Given the description of an element on the screen output the (x, y) to click on. 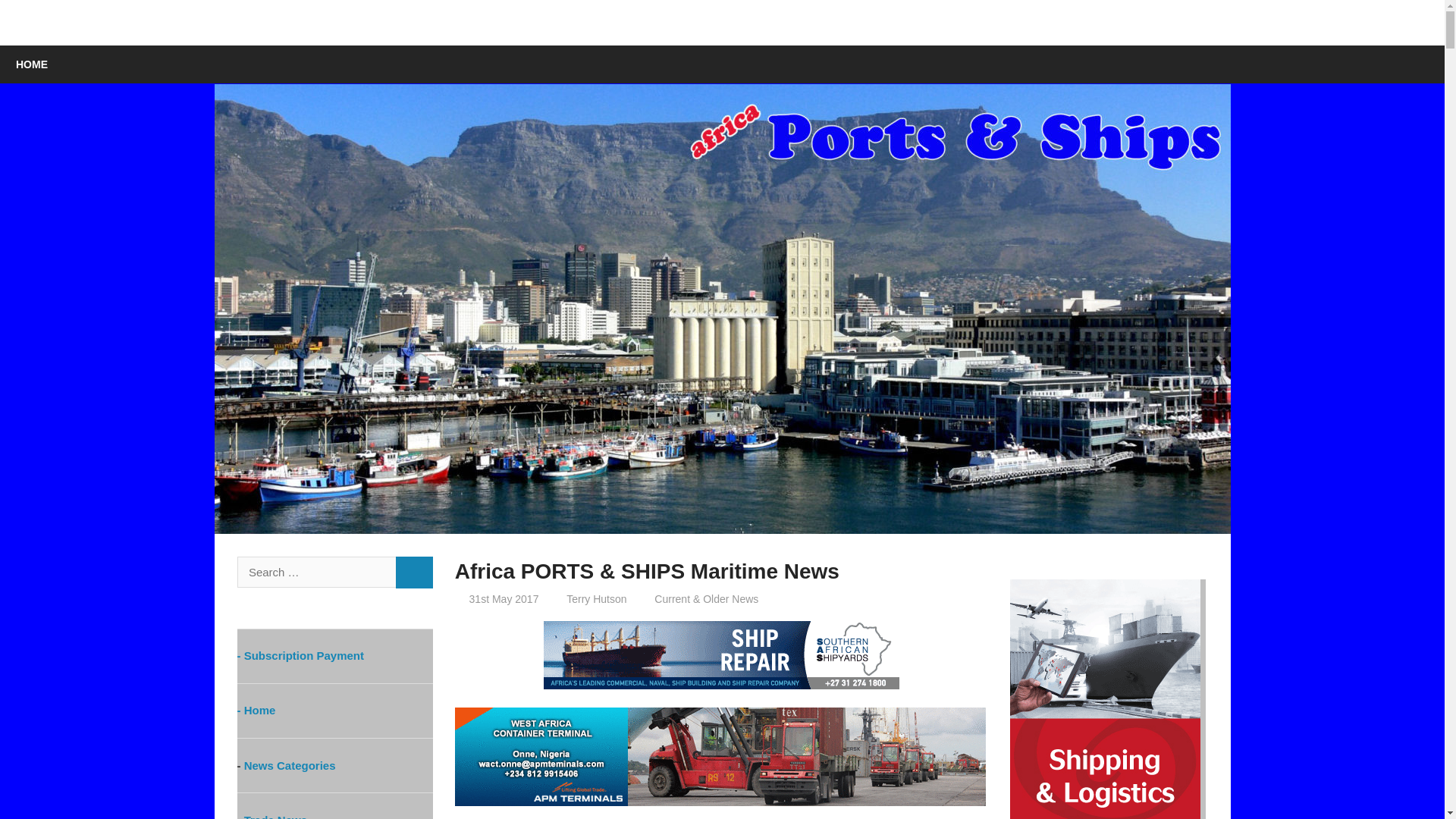
Search for: (315, 572)
31st May 2017 (503, 598)
View all posts by Terry Hutson (596, 598)
Terry Hutson (596, 598)
HOME (32, 64)
7:07 am (503, 598)
